Given the description of an element on the screen output the (x, y) to click on. 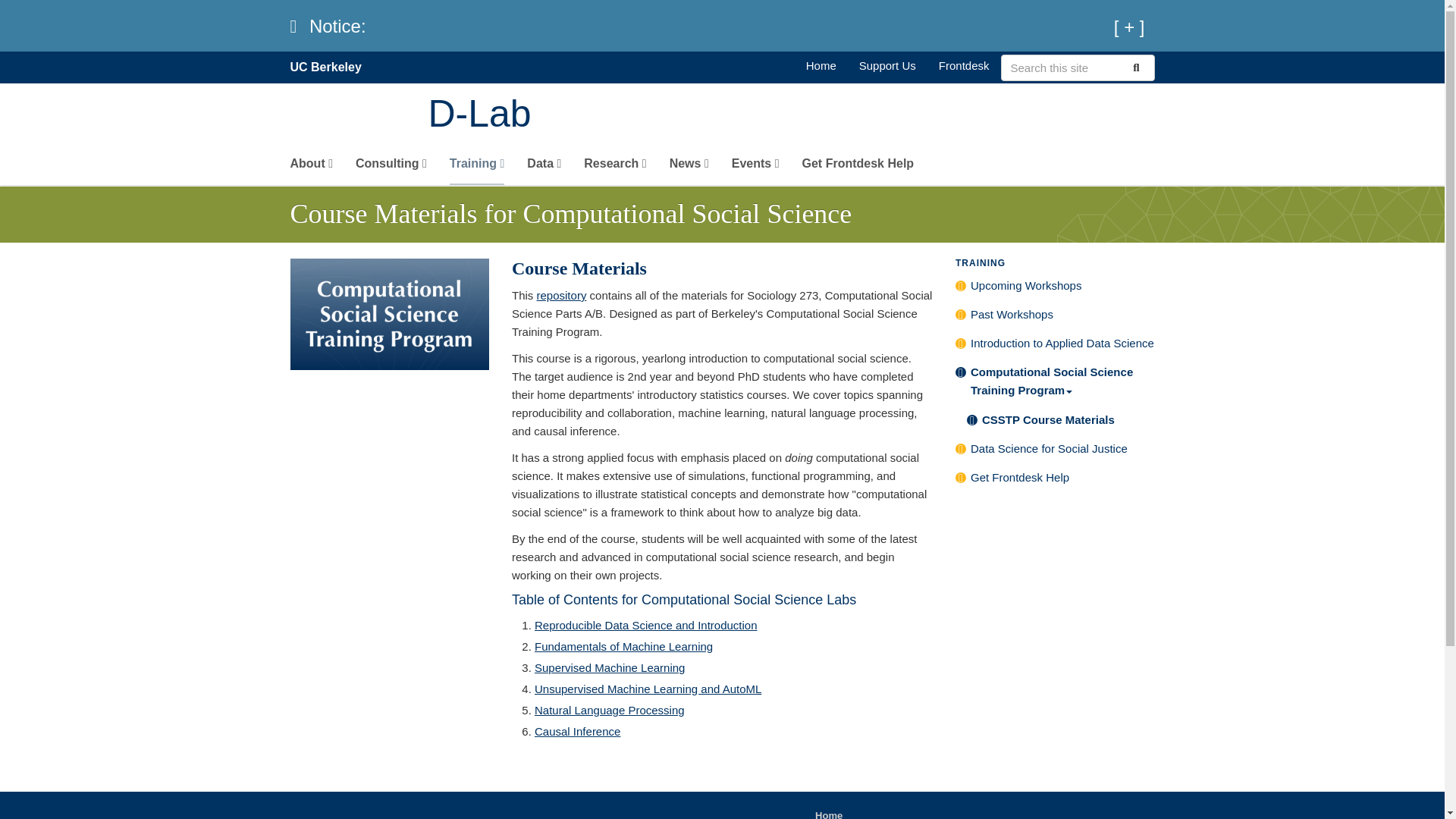
Give to D-Lab (887, 65)
Consulting (390, 167)
About (311, 167)
Submit Search (1133, 67)
Training (477, 167)
UC Berkeley (325, 66)
Return to the D-Lab home page (820, 65)
Research (614, 167)
D-Lab (791, 115)
Data (543, 167)
News (689, 167)
Description box found in the "menu settings" (311, 167)
Home (791, 115)
